Given the description of an element on the screen output the (x, y) to click on. 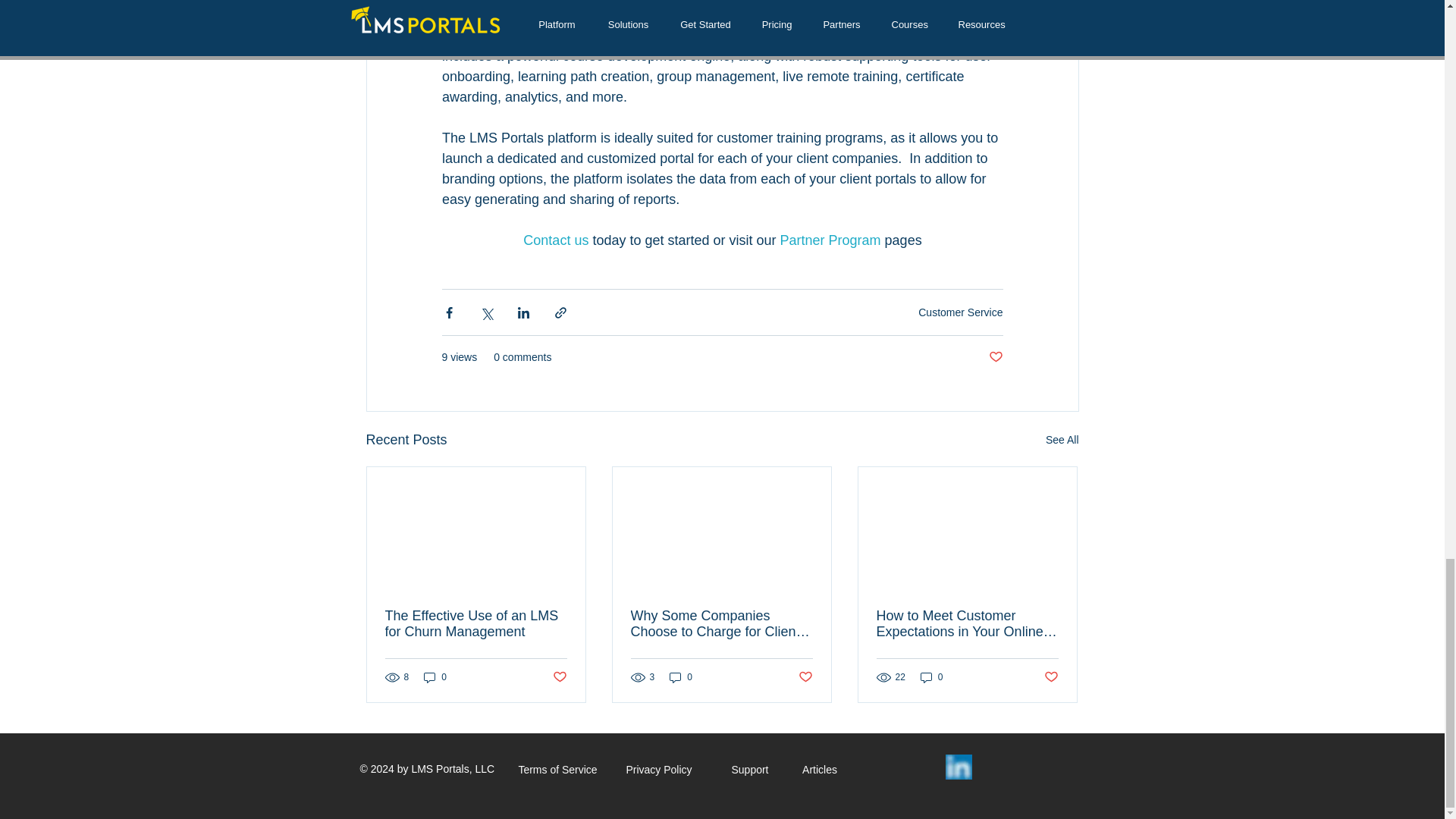
multi-tenant learning management system (723, 11)
